Given the description of an element on the screen output the (x, y) to click on. 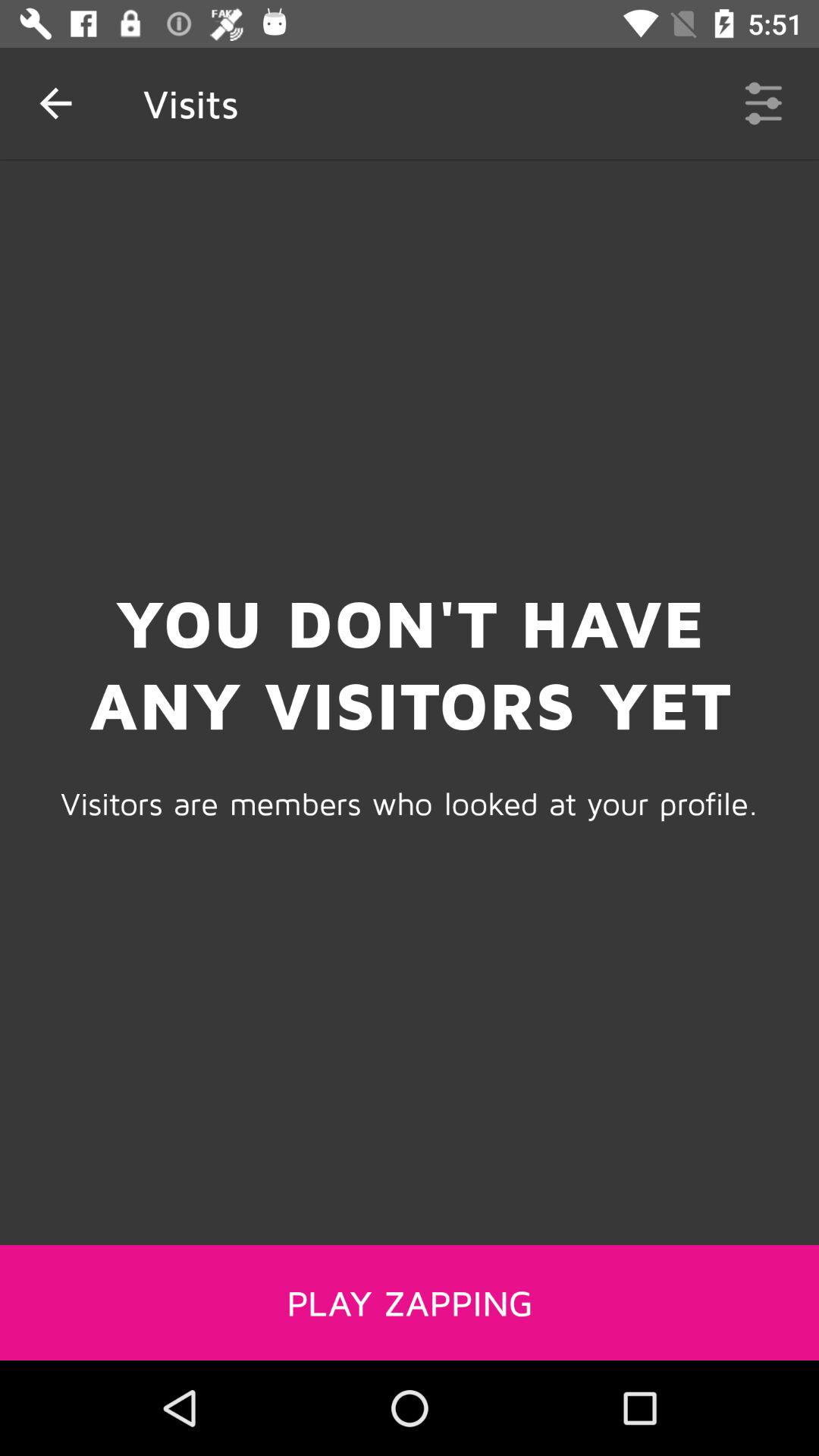
turn on item above the you don t item (763, 103)
